Given the description of an element on the screen output the (x, y) to click on. 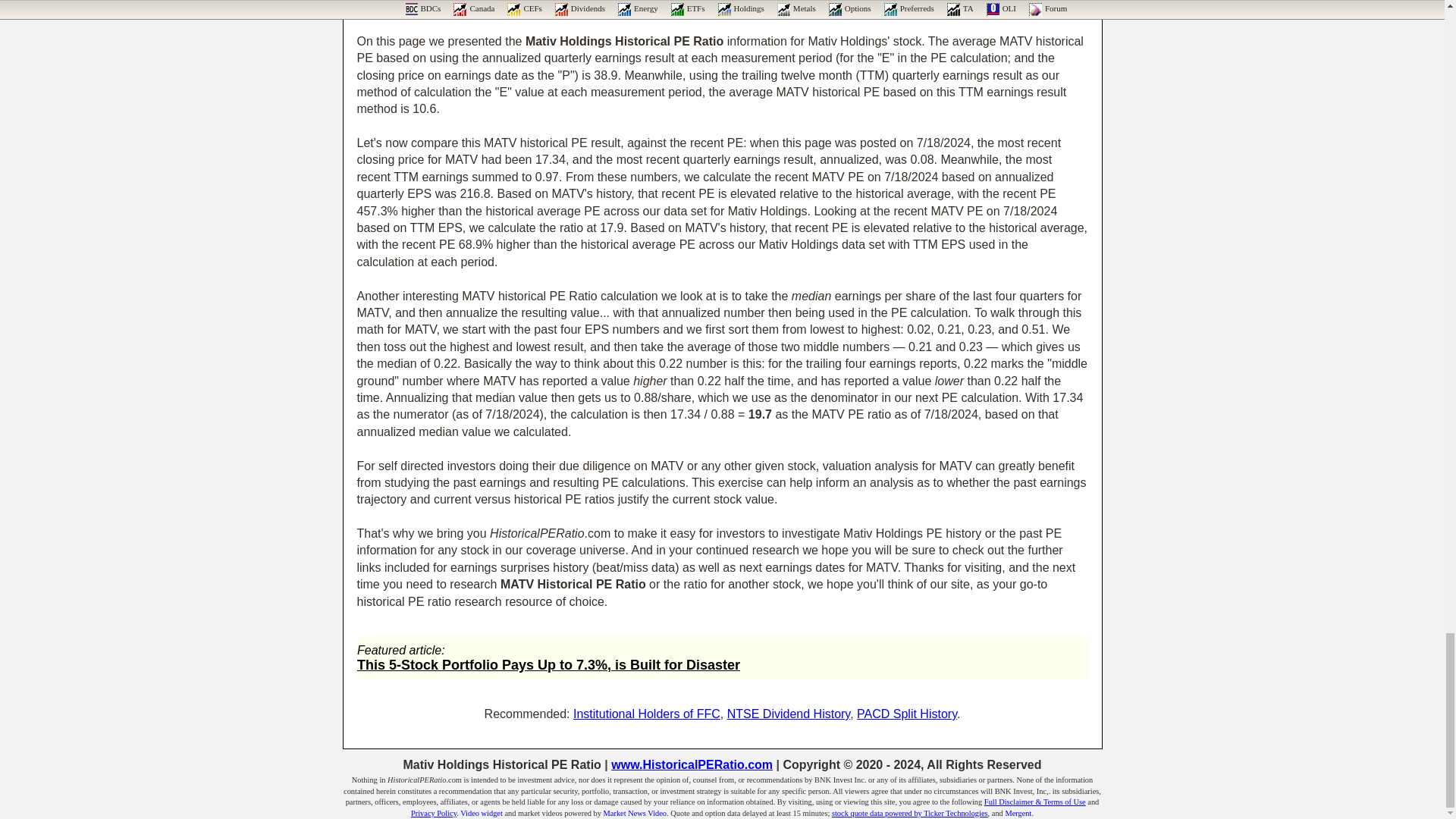
Institutional Holders of FFC (646, 713)
NTSE Dividend History (788, 713)
